Given the description of an element on the screen output the (x, y) to click on. 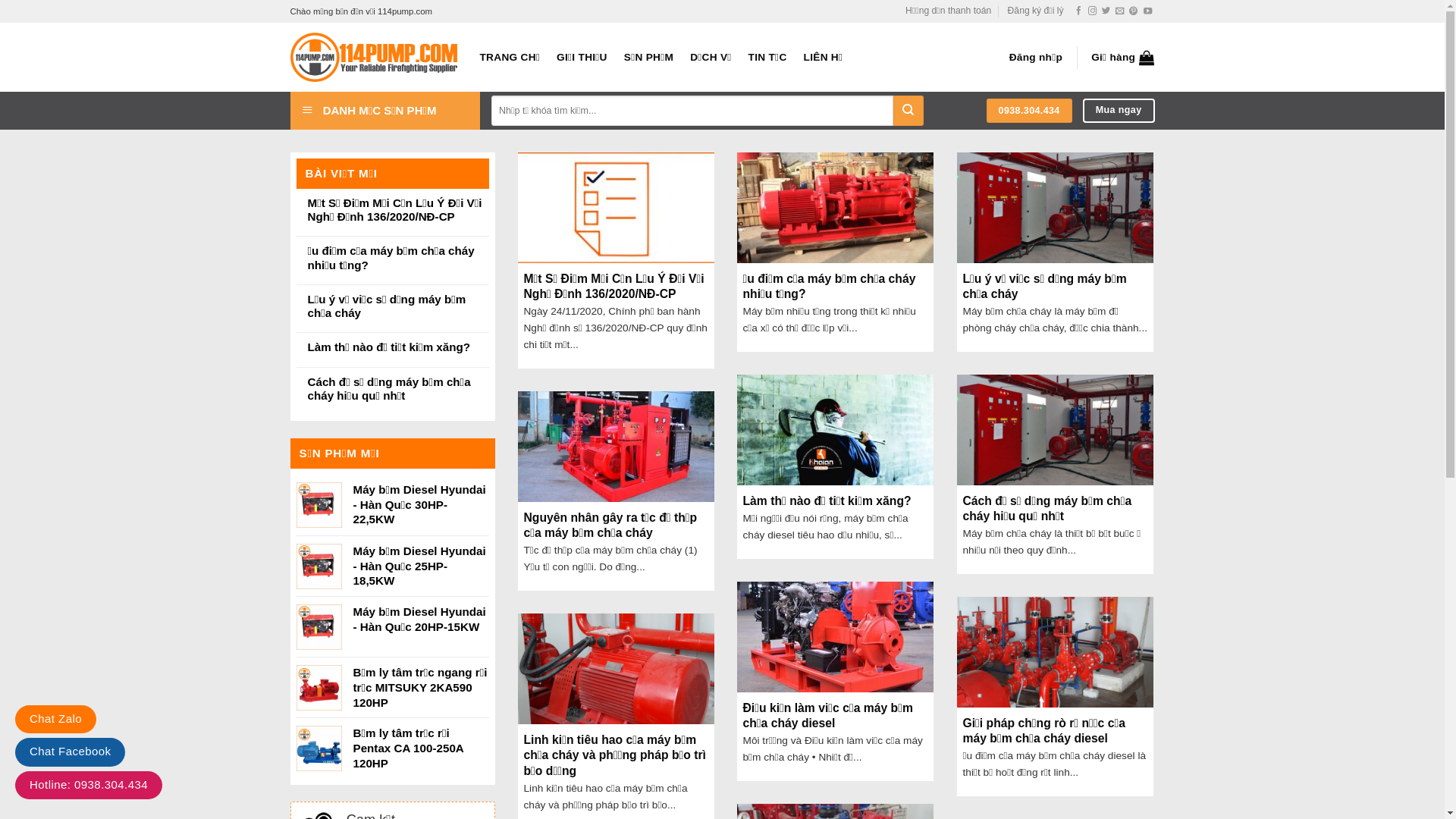
Hotline: 0938.304.434 Element type: text (88, 785)
0938.304.434 Element type: text (1029, 110)
Skip to content Element type: text (0, 0)
Mua ngay Element type: text (1118, 110)
Chat Zalo Element type: text (55, 718)
Chat Facebook Element type: text (69, 750)
Chat Zalo Element type: text (55, 719)
Hotline: 0938.304.434 Element type: text (88, 784)
Chat Facebook Element type: text (70, 751)
